Given the description of an element on the screen output the (x, y) to click on. 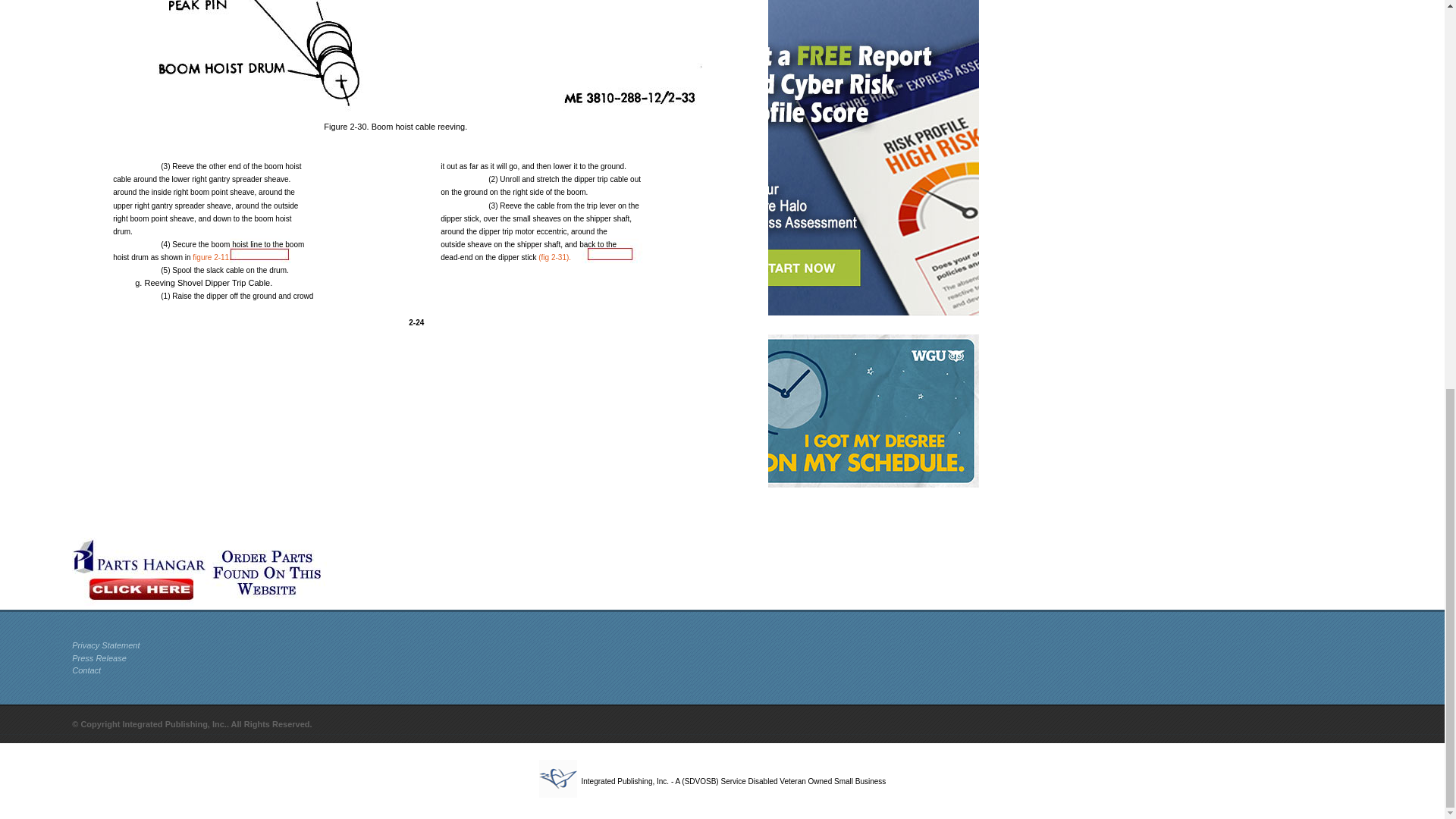
Contact (85, 669)
Press Release (98, 657)
figure 2-11. (211, 257)
Privacy Statement (105, 645)
